Given the description of an element on the screen output the (x, y) to click on. 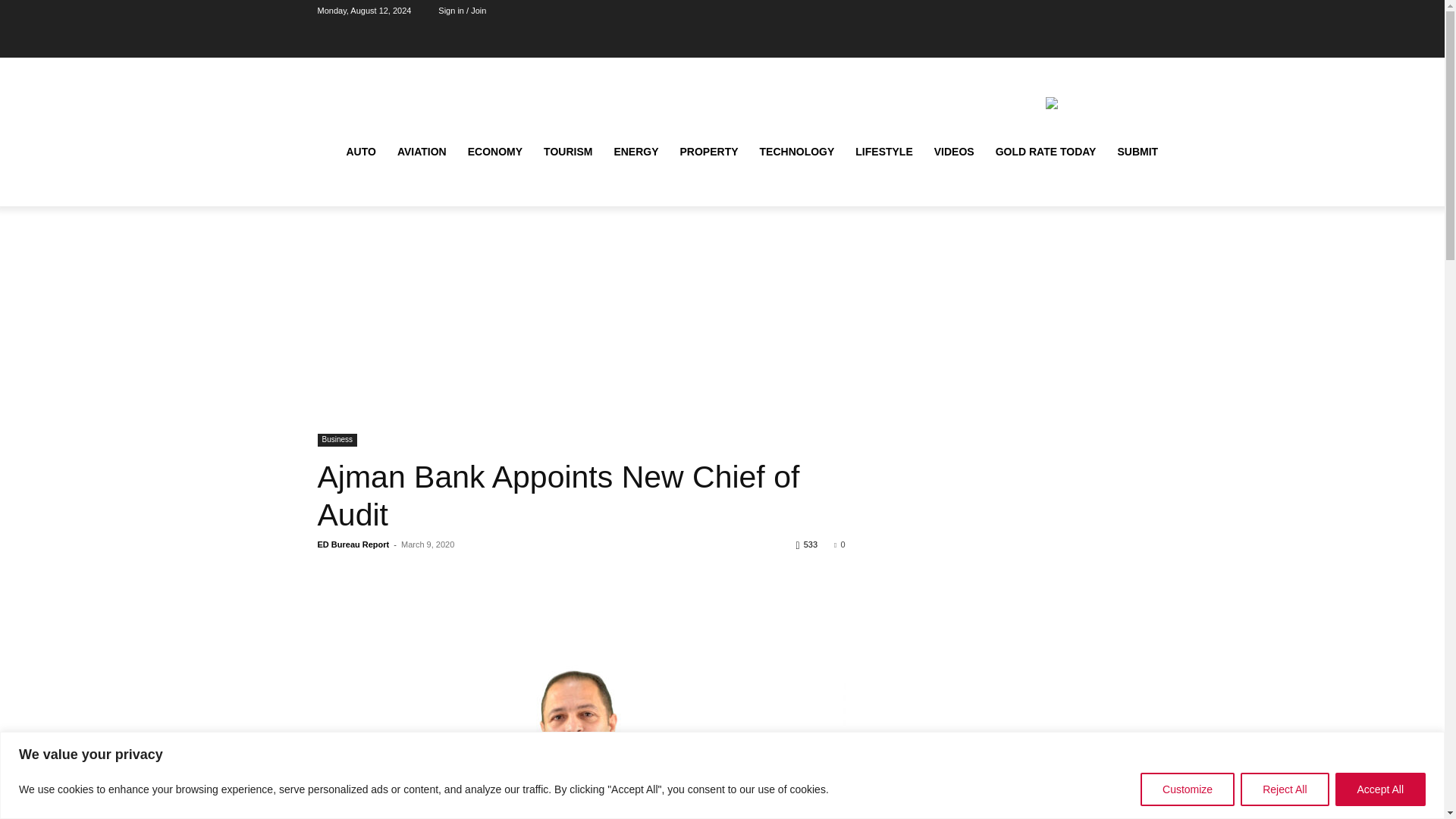
Reject All (1283, 788)
AVIATION (422, 151)
ECONOMY (494, 151)
Customize (1187, 788)
AUTO (359, 151)
PROPERTY (709, 151)
Mr. Majdi H. Darwish, Chief of Audit (580, 720)
Accept All (1380, 788)
ENERGY (635, 151)
